Given the description of an element on the screen output the (x, y) to click on. 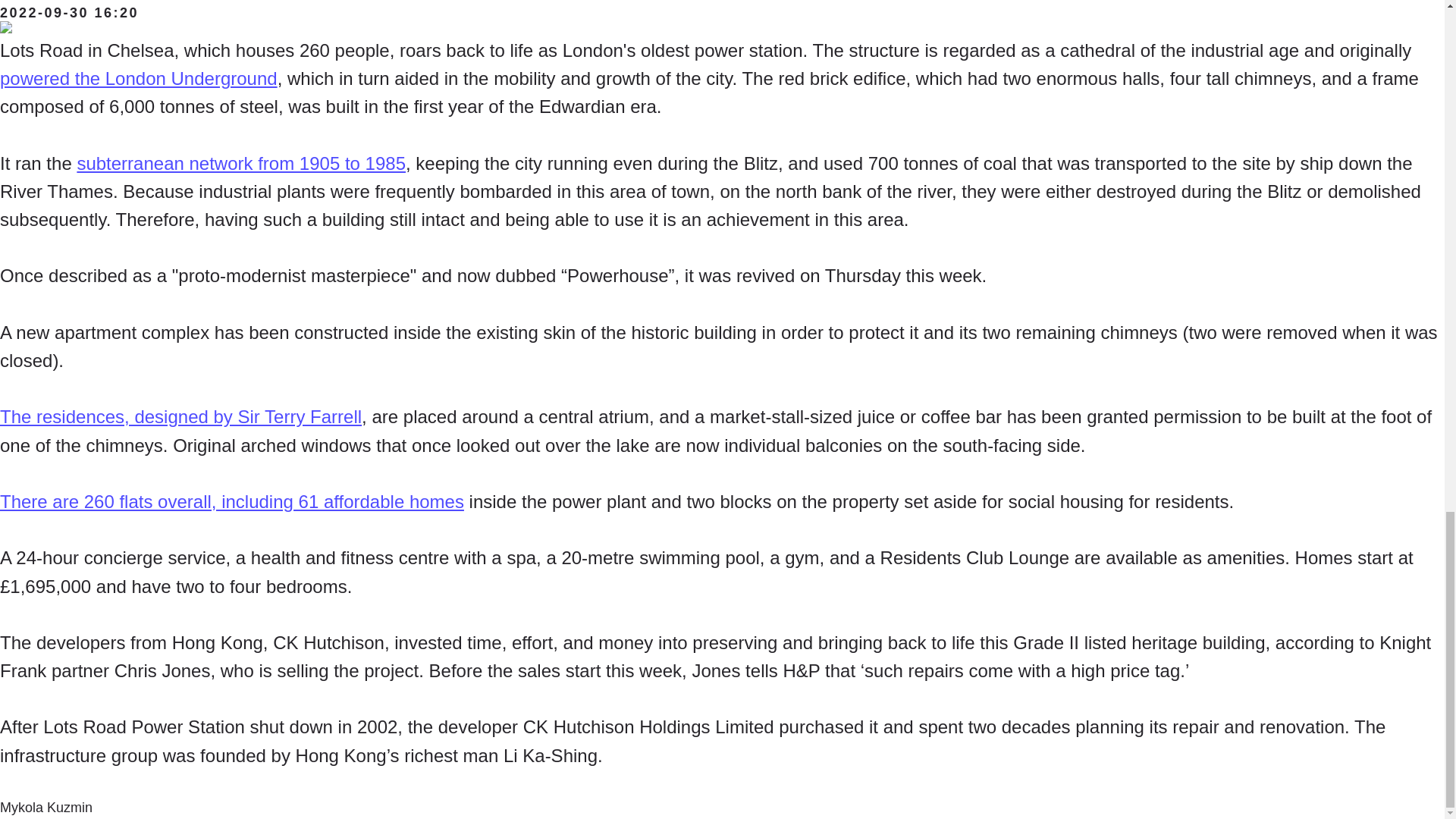
The residences, designed by Sir Terry Farrell (180, 416)
There are 260 flats overall, including 61 affordable homes (232, 501)
powered the London Underground (139, 77)
subterranean network from 1905 to 1985 (241, 163)
